Given the description of an element on the screen output the (x, y) to click on. 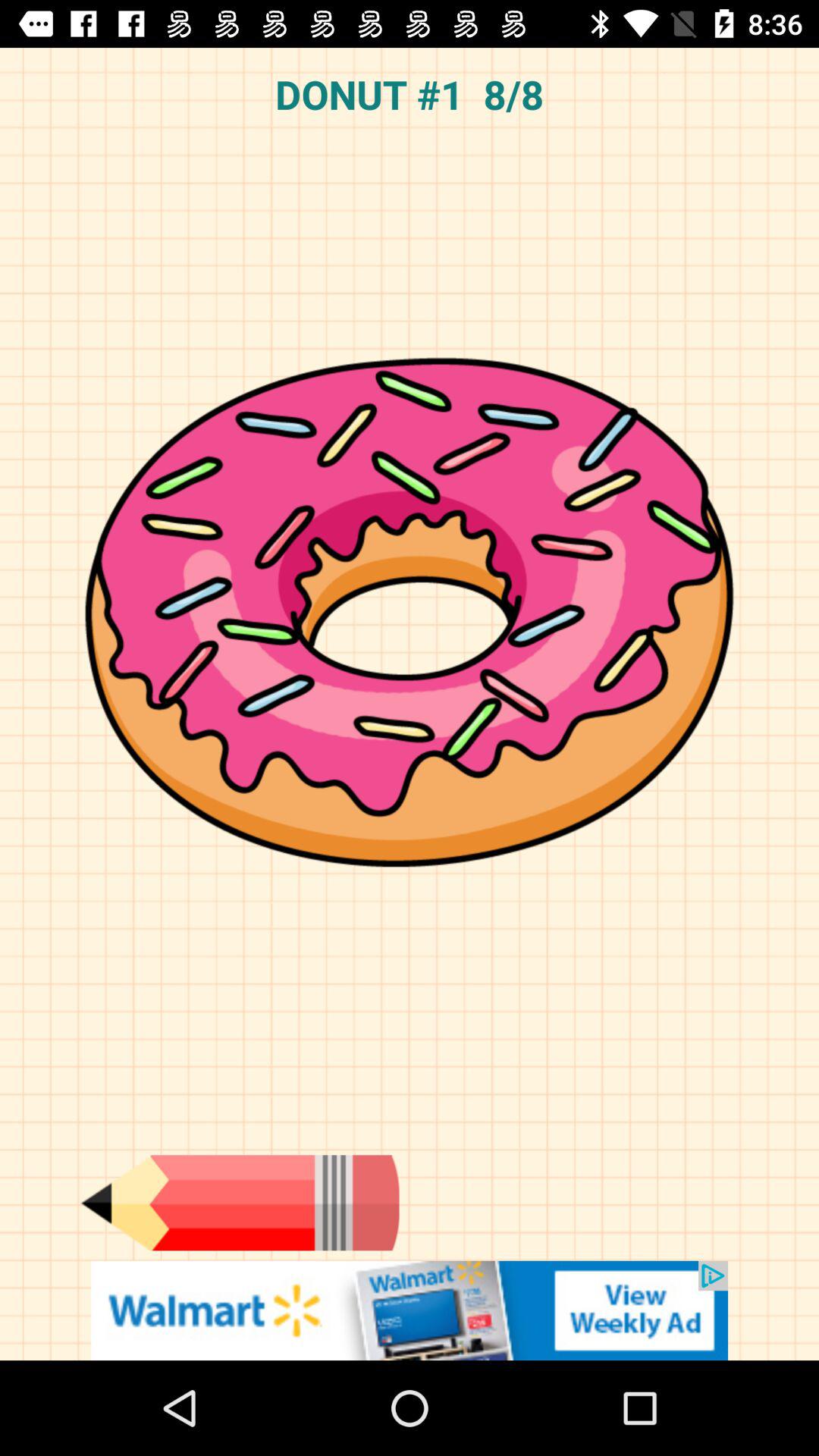
select different color (239, 1202)
